Given the description of an element on the screen output the (x, y) to click on. 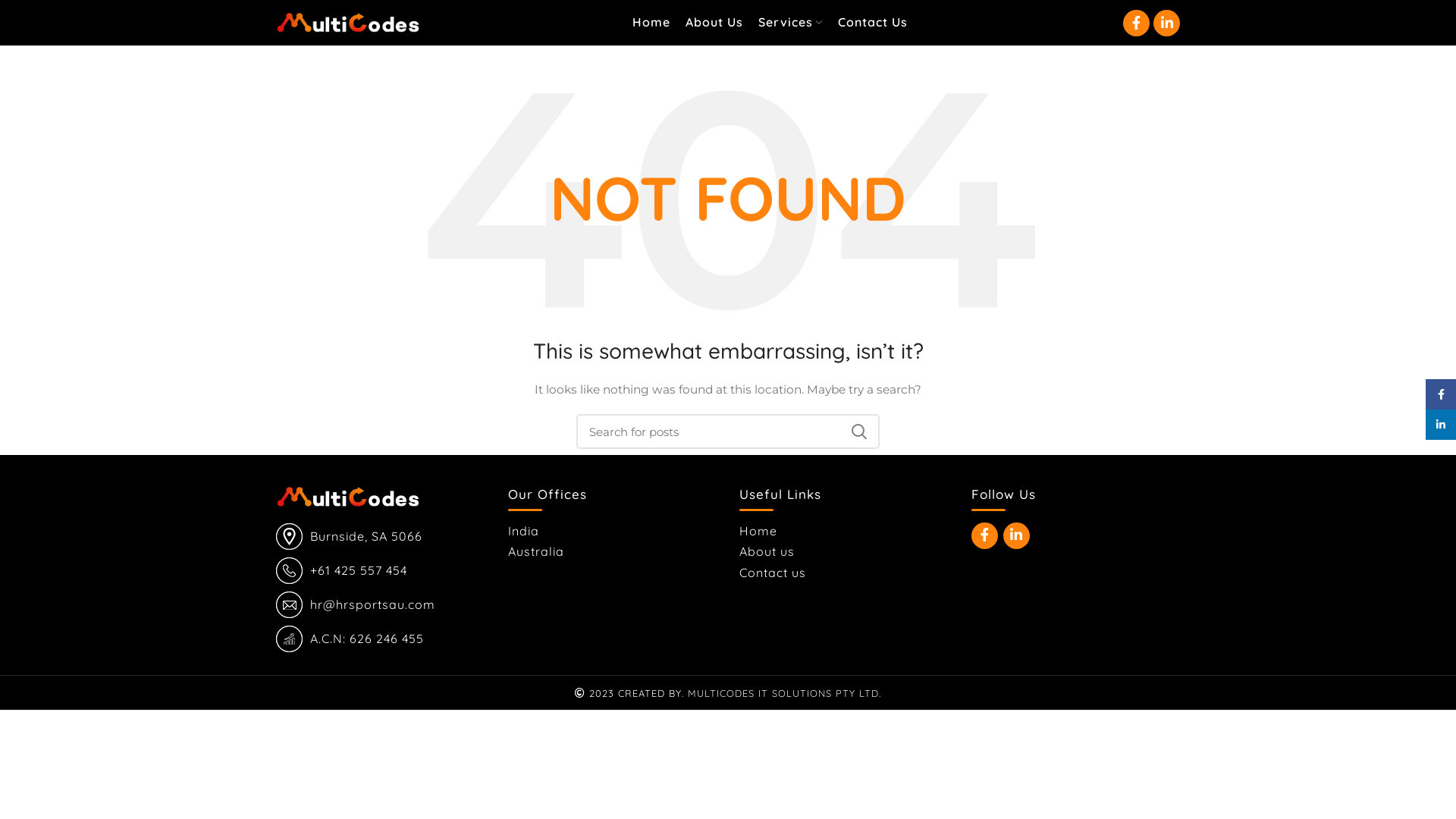
Logo Element type: hover (348, 496)
About Us Element type: text (713, 22)
growth Element type: hover (289, 638)
India Element type: text (524, 530)
Services Element type: text (790, 22)
MULTICODES IT SOLUTIONS PTY LTD. Element type: text (784, 693)
Home Element type: text (758, 530)
Home Element type: text (650, 22)
map Element type: hover (289, 536)
mail-new Element type: hover (289, 604)
Search for posts Element type: hover (727, 431)
Contact Us Element type: text (871, 22)
Contact us Element type: text (773, 572)
Australia Element type: text (536, 550)
SEARCH Element type: text (859, 431)
About us Element type: text (767, 550)
call Element type: hover (289, 570)
